Given the description of an element on the screen output the (x, y) to click on. 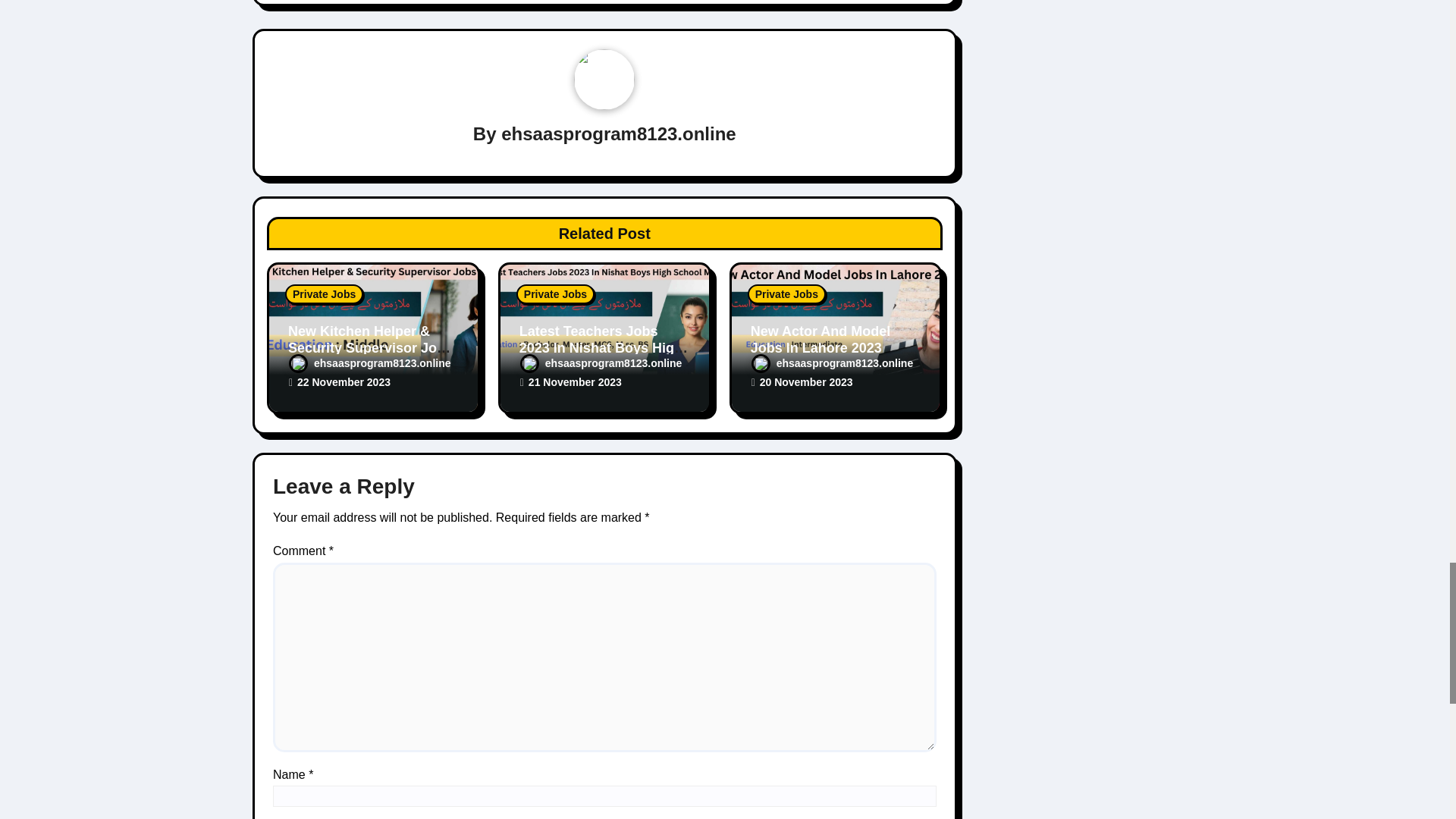
Permalink to: New Actor And Model Jobs In Lahore 2023 (821, 339)
